Given the description of an element on the screen output the (x, y) to click on. 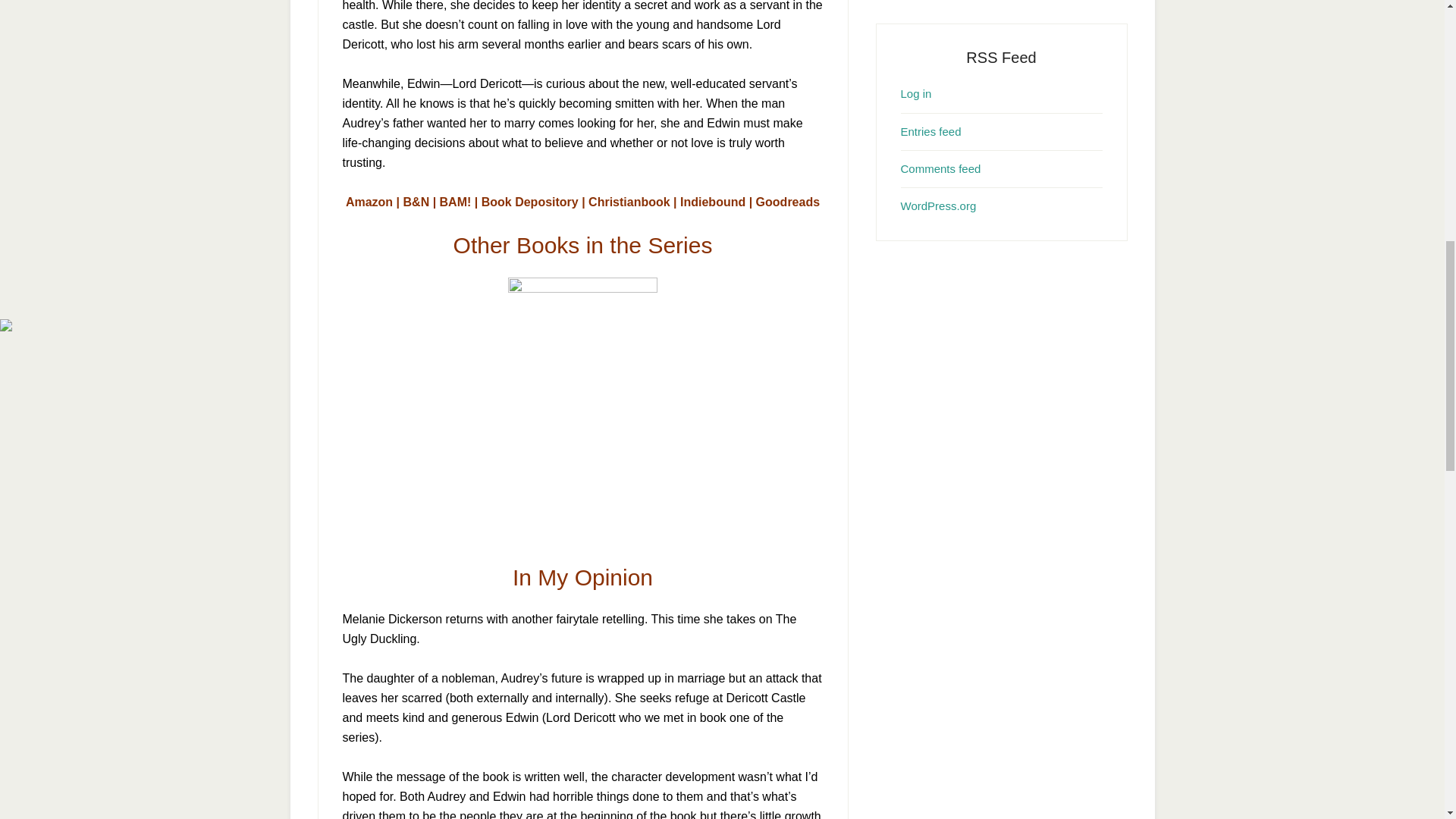
Book Depository (529, 201)
Entries feed (930, 130)
WordPress.org (938, 205)
Indiebound (712, 201)
Goodreads (787, 201)
Christianbook (628, 201)
Comments feed (941, 168)
Amazon (369, 201)
BAM! (455, 201)
Log in (916, 92)
